Given the description of an element on the screen output the (x, y) to click on. 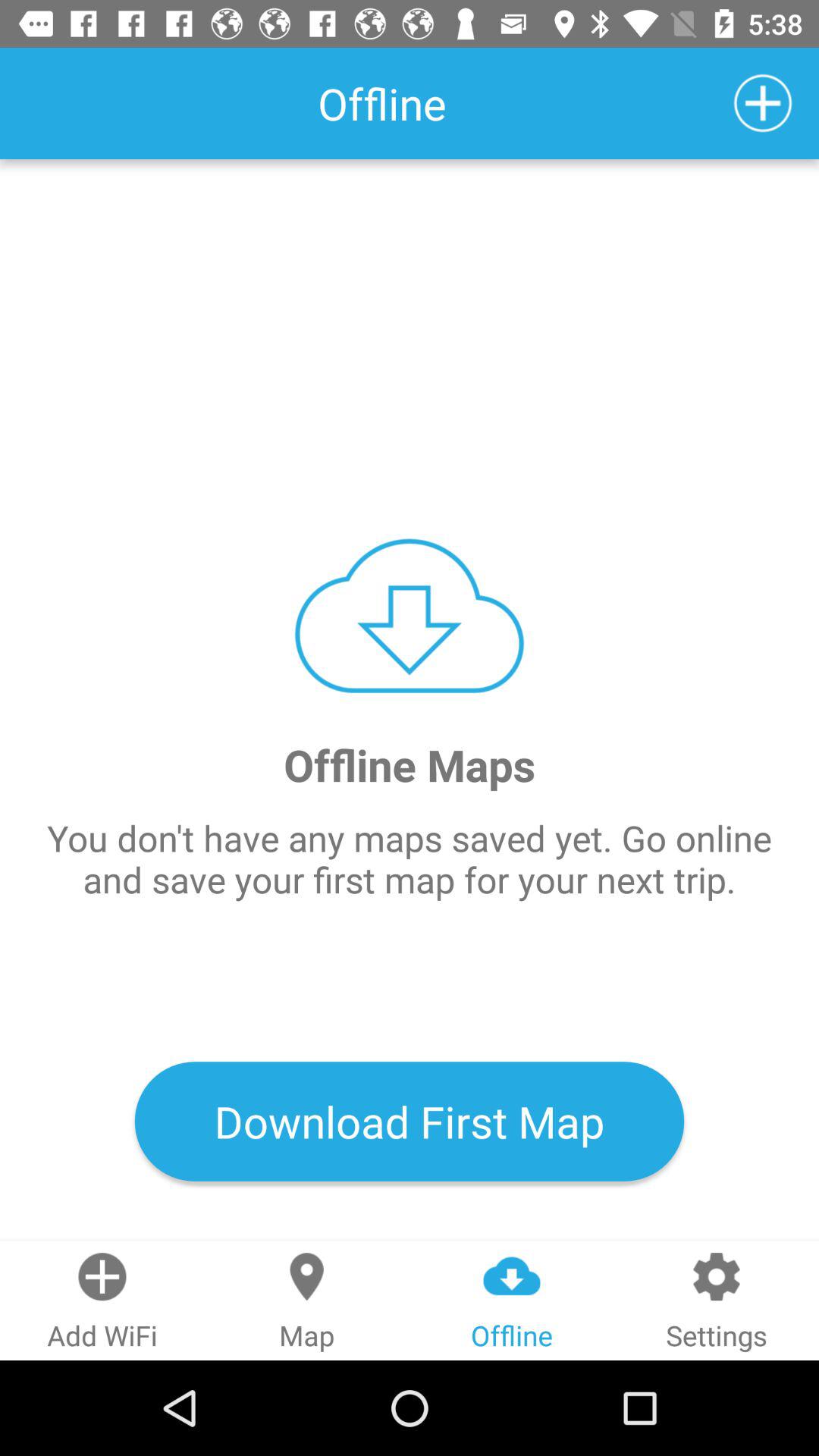
go to add new tap (762, 103)
